Given the description of an element on the screen output the (x, y) to click on. 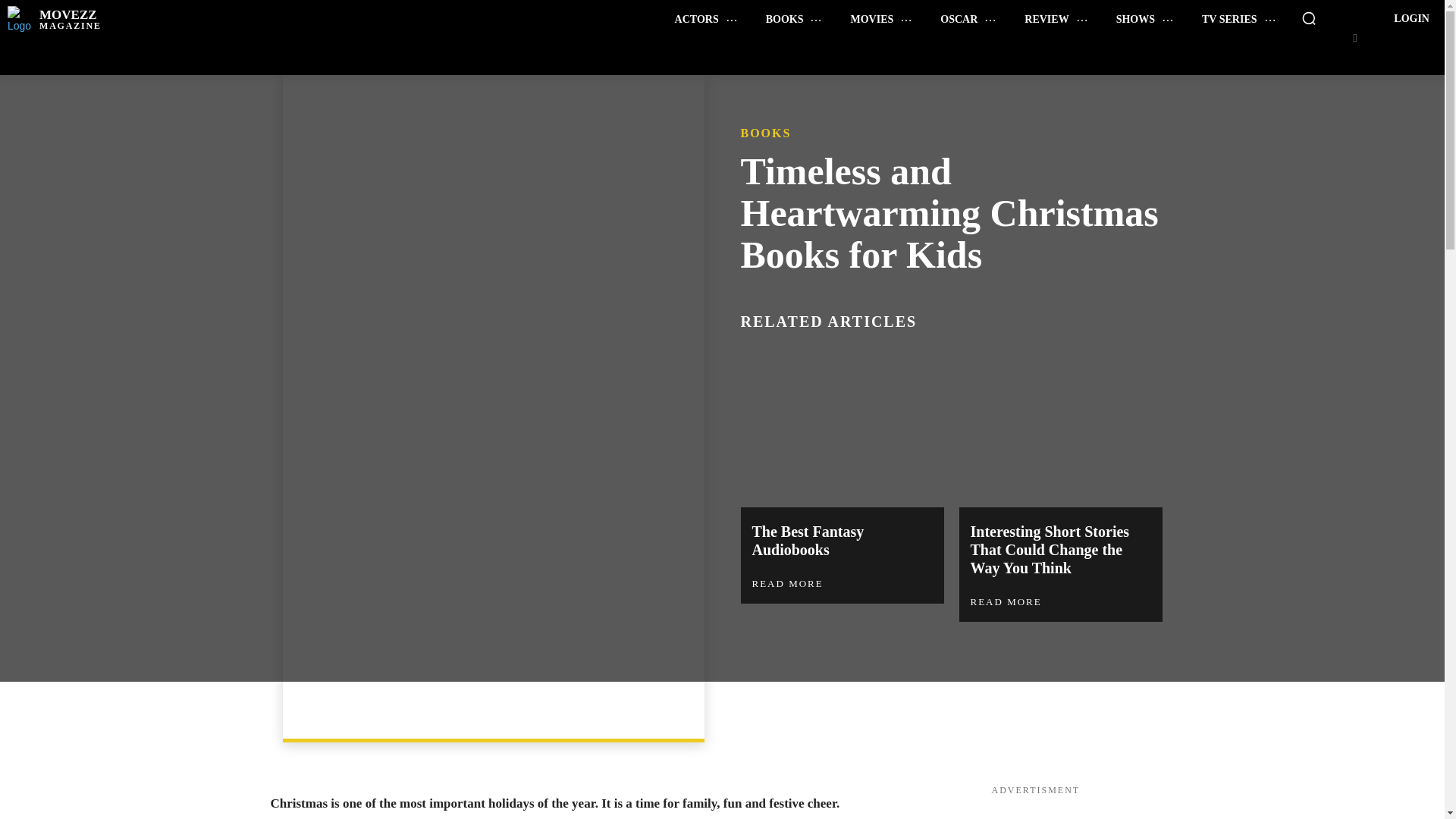
ACTORS (705, 19)
BOOKS (793, 19)
